Given the description of an element on the screen output the (x, y) to click on. 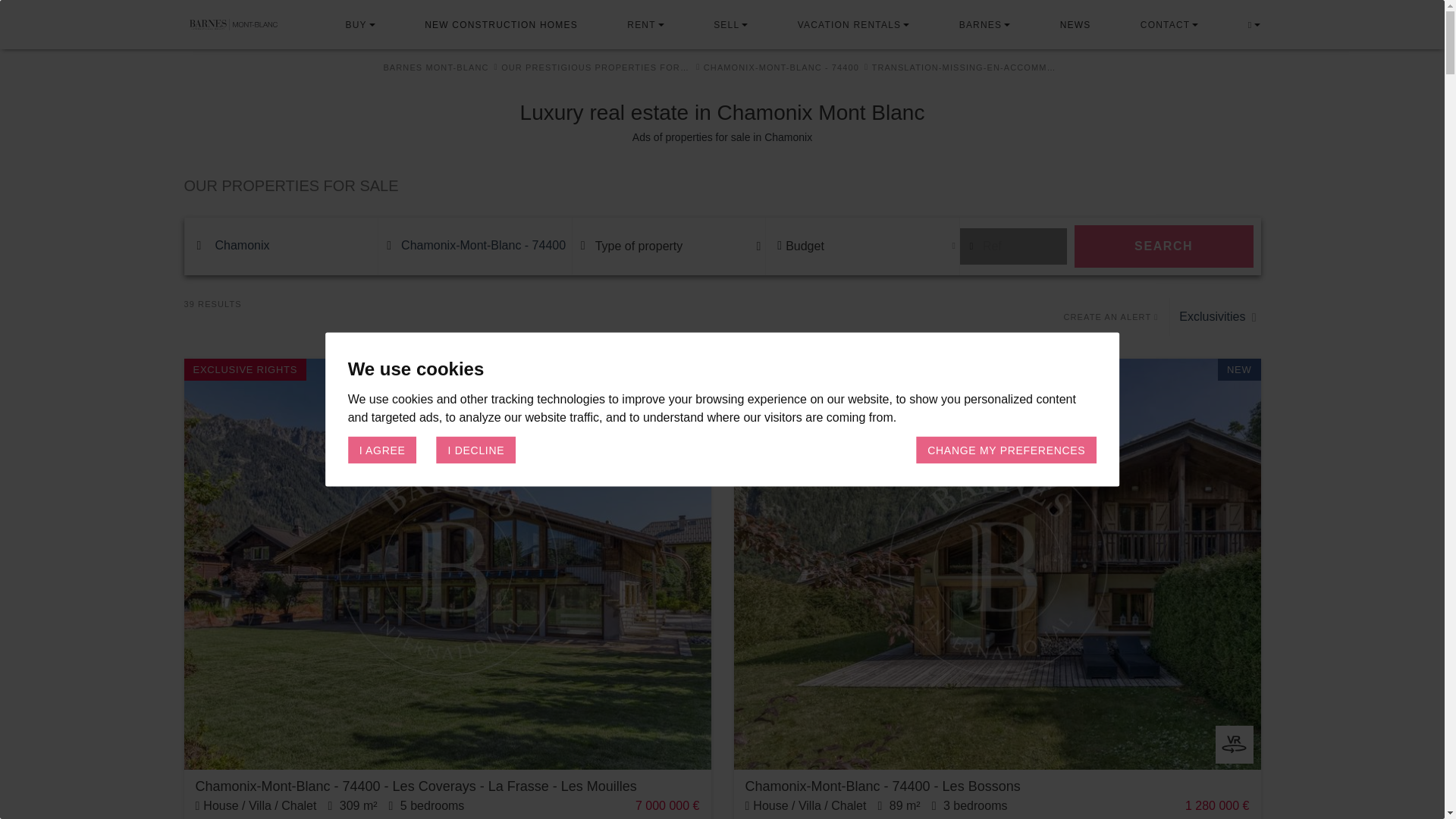
BARNES (981, 24)
I DECLINE (476, 449)
NEW CONSTRUCTION HOMES (501, 24)
Back to Home (253, 24)
Our agencies (1165, 24)
New construction homes (501, 24)
OUR PROPERTIES FOR SALE (721, 185)
CHANGE MY PREFERENCES (1005, 449)
